Given the description of an element on the screen output the (x, y) to click on. 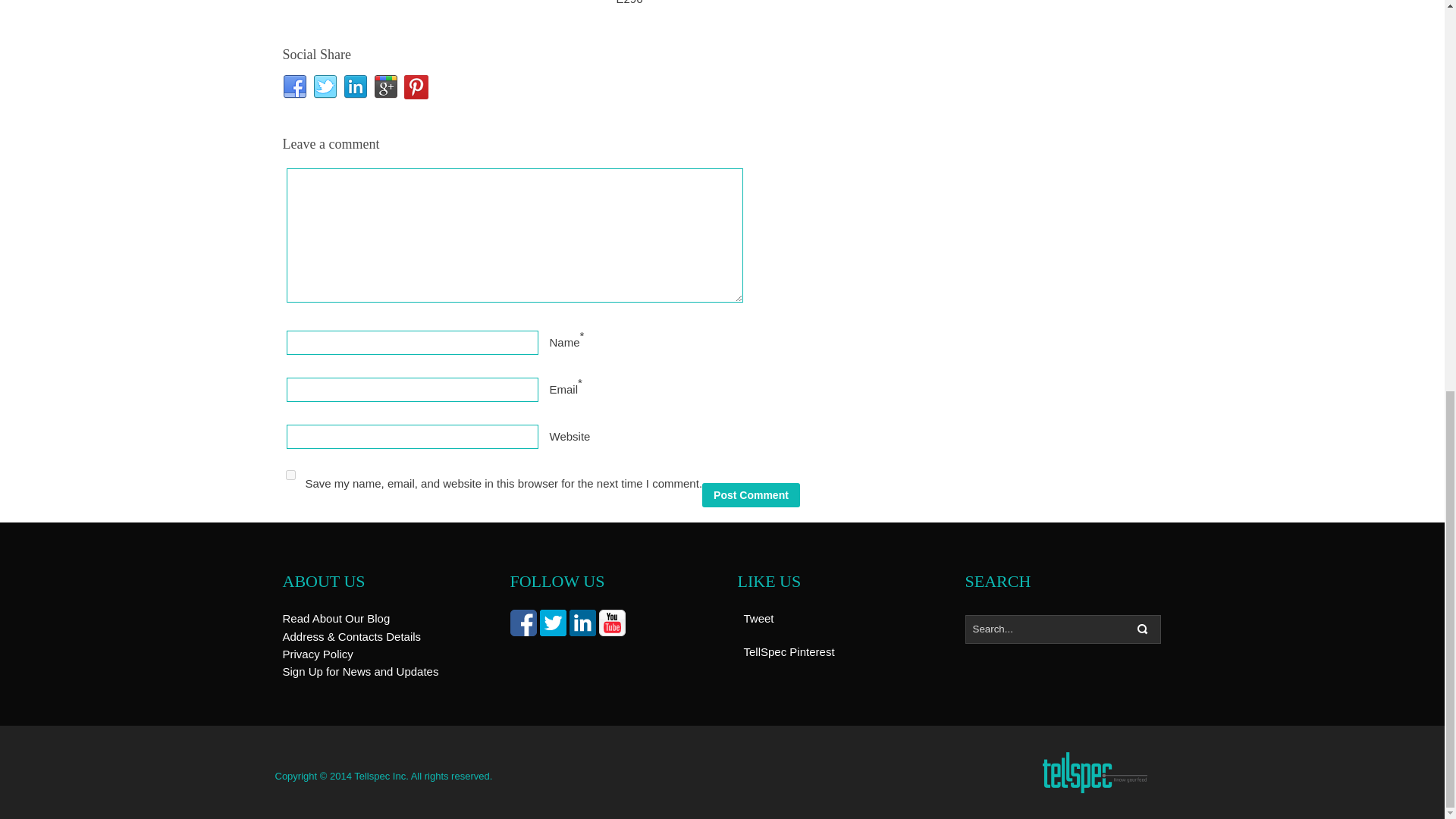
Search... (1061, 629)
facebook (522, 622)
youtube (612, 622)
yes (290, 474)
twitter (553, 622)
Post Comment (750, 494)
linkedin (582, 622)
